Given the description of an element on the screen output the (x, y) to click on. 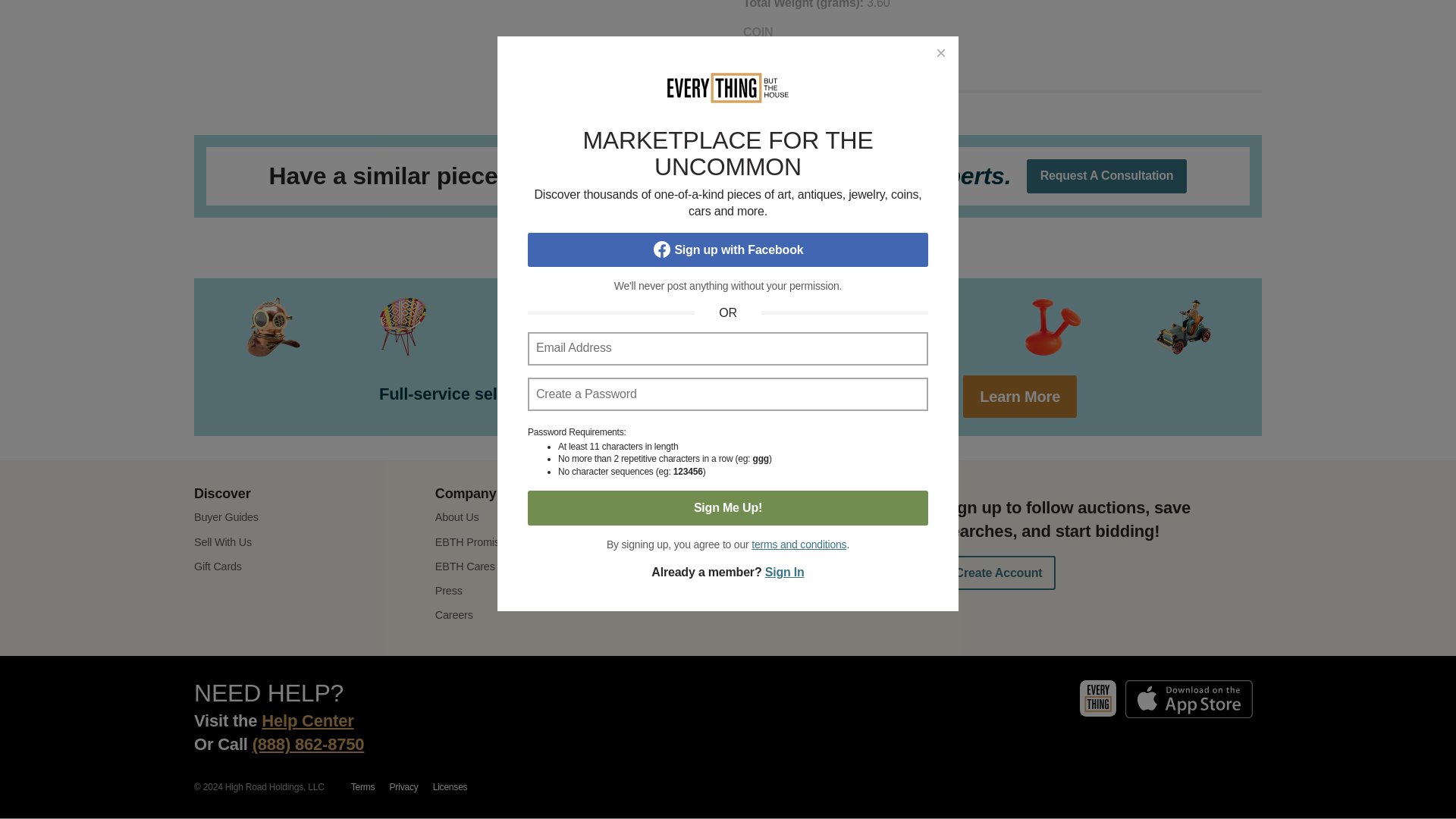
Read More (1002, 105)
Request A Consultation (1107, 176)
